Given the description of an element on the screen output the (x, y) to click on. 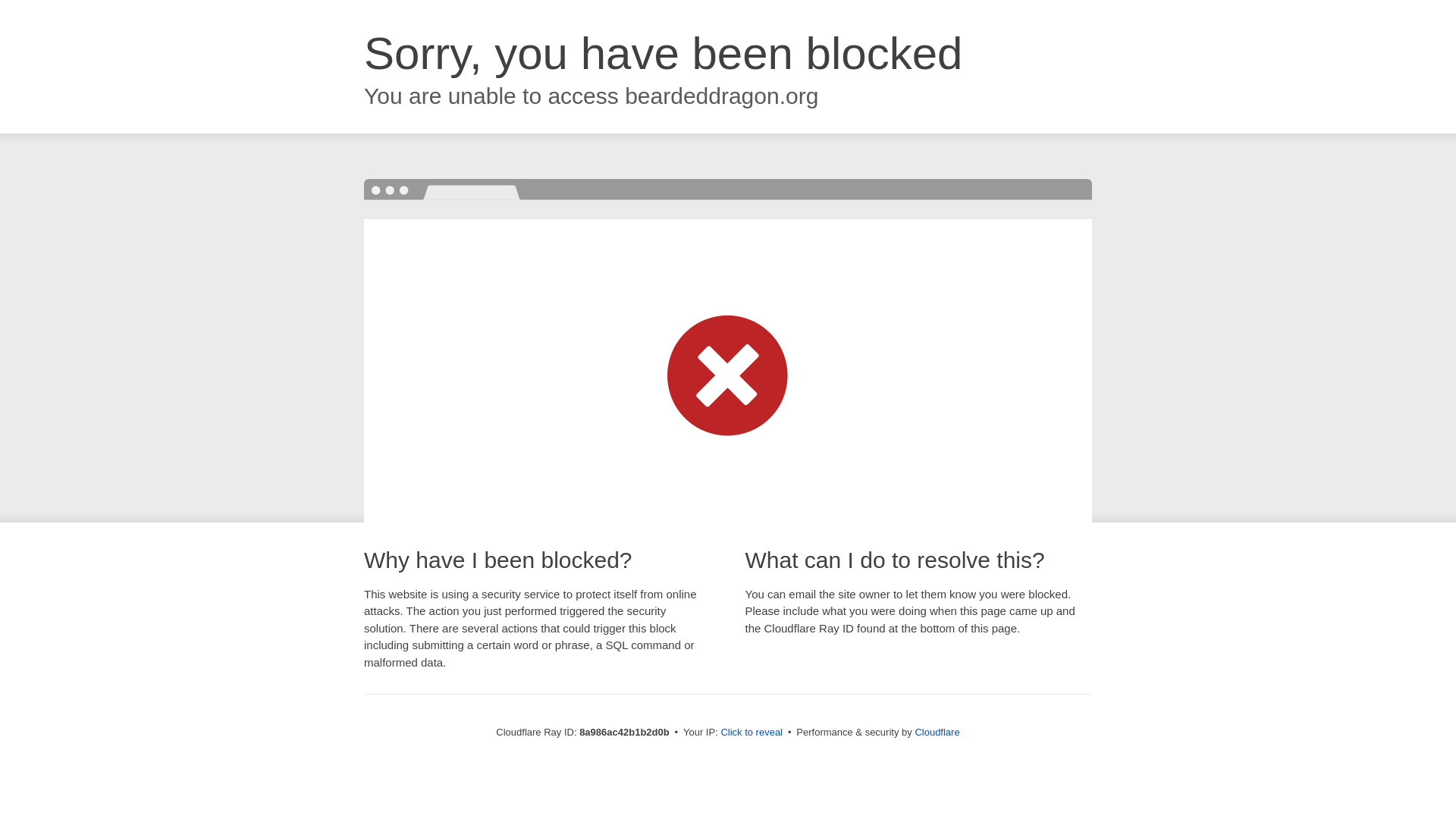
Cloudflare (936, 731)
Click to reveal (751, 732)
